Given the description of an element on the screen output the (x, y) to click on. 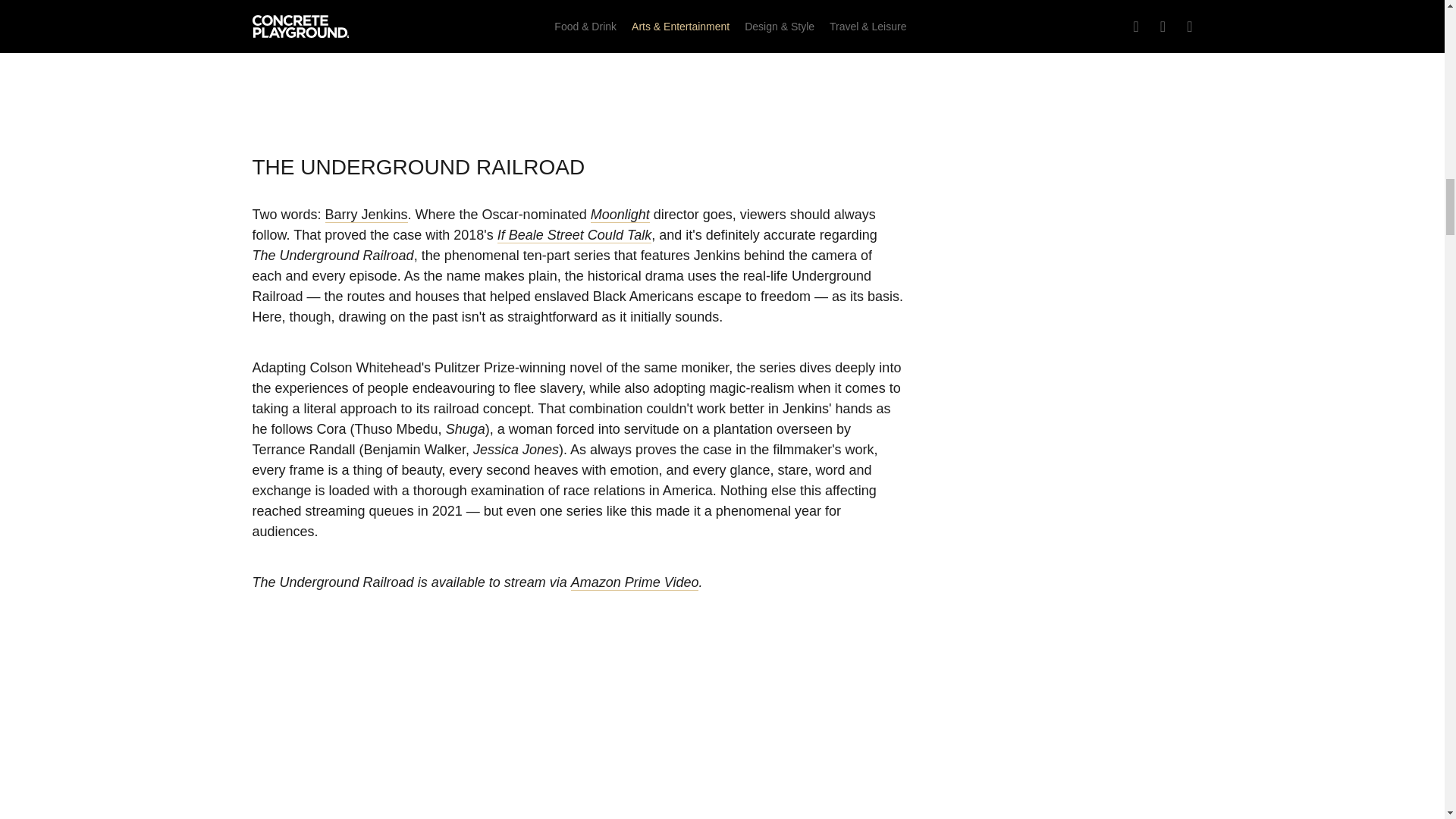
YouTube video player (577, 57)
YouTube video player (577, 736)
